Given the description of an element on the screen output the (x, y) to click on. 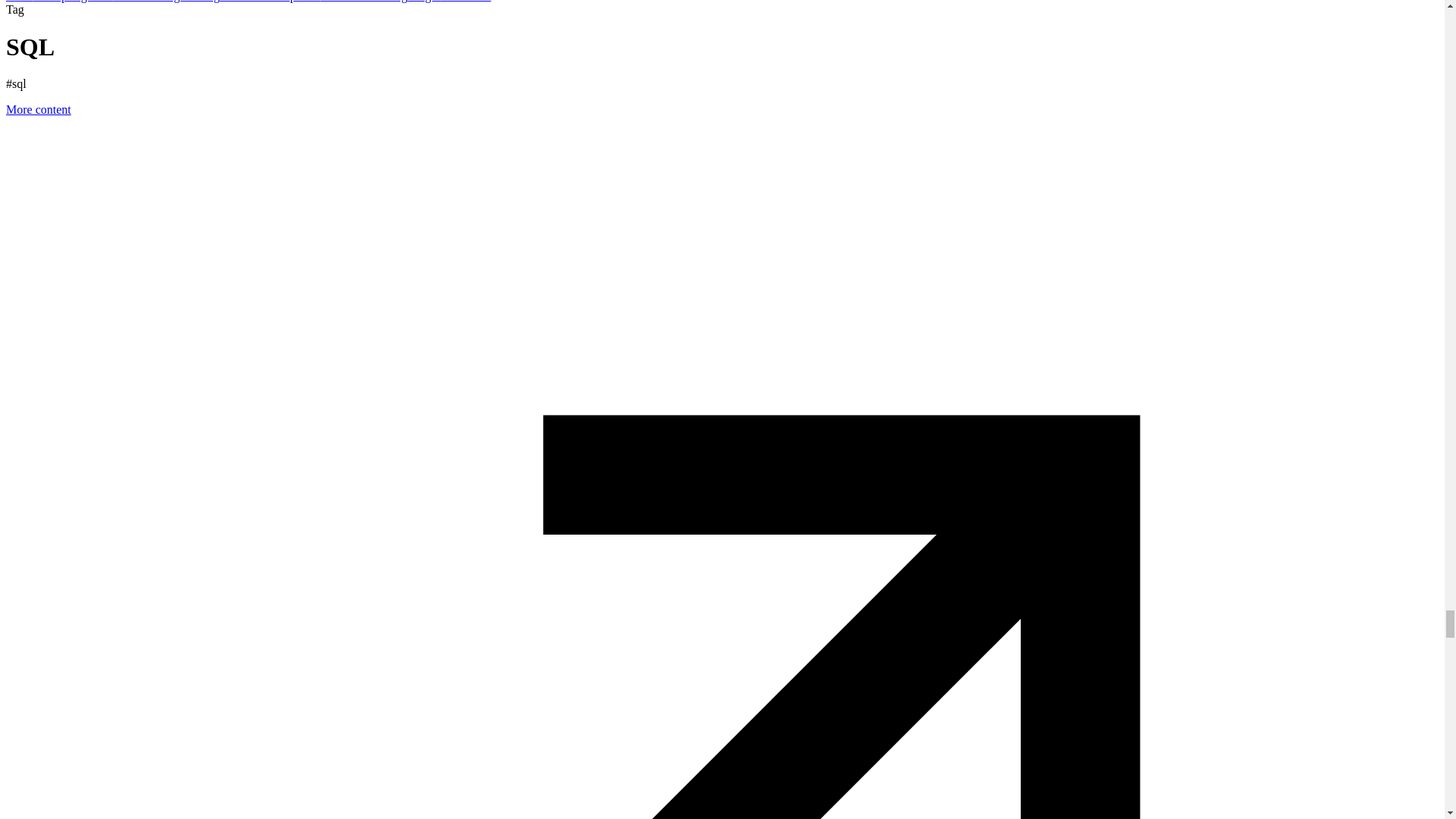
Career Development (269, 1)
Software Engineering (166, 1)
home (19, 1)
newsletter (466, 1)
badges (424, 1)
Spring Boot (84, 1)
Java (44, 1)
Technical Writing (363, 1)
